Given the description of an element on the screen output the (x, y) to click on. 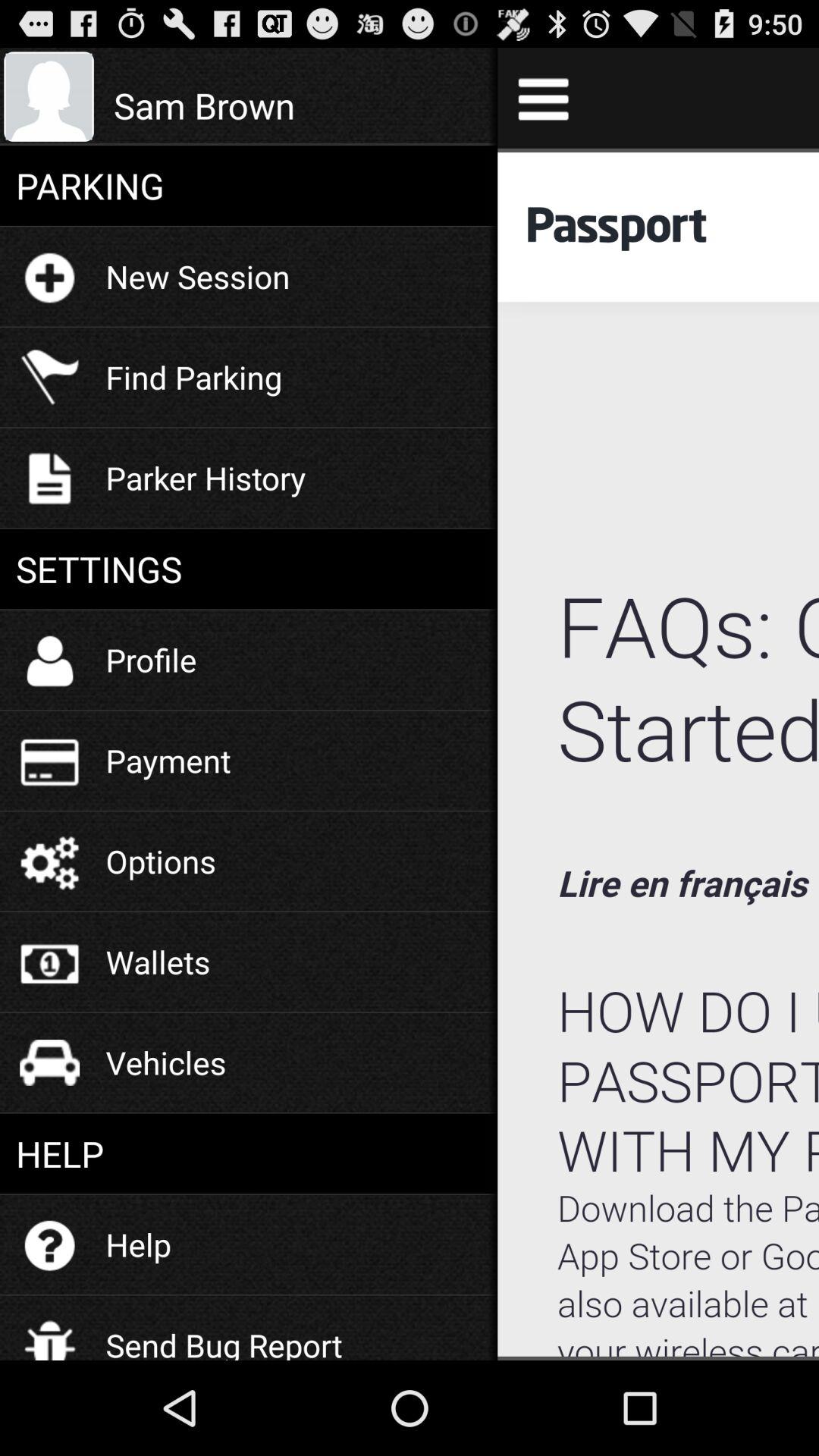
turn off the item next to sam
brown icon (543, 97)
